Given the description of an element on the screen output the (x, y) to click on. 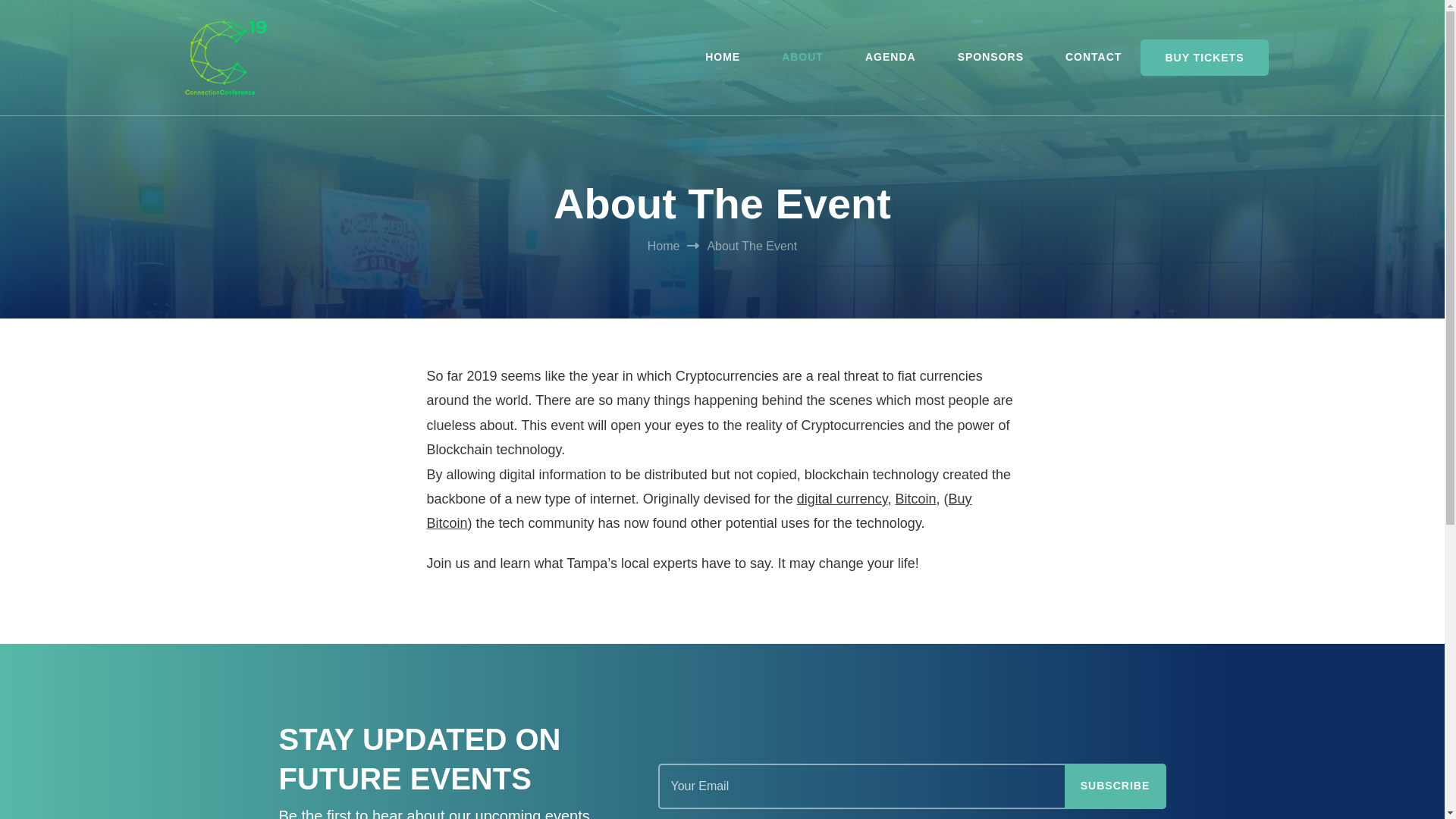
Subscribe (1115, 786)
BUY TICKETS (1204, 57)
ABOUT (802, 56)
CONTACT (1093, 56)
digital currency (842, 498)
Buy Bitcoin (698, 510)
Home (663, 245)
HOME (721, 56)
AGENDA (889, 56)
Bitcoin (915, 498)
Subscribe (1115, 786)
SPONSORS (990, 56)
